Given the description of an element on the screen output the (x, y) to click on. 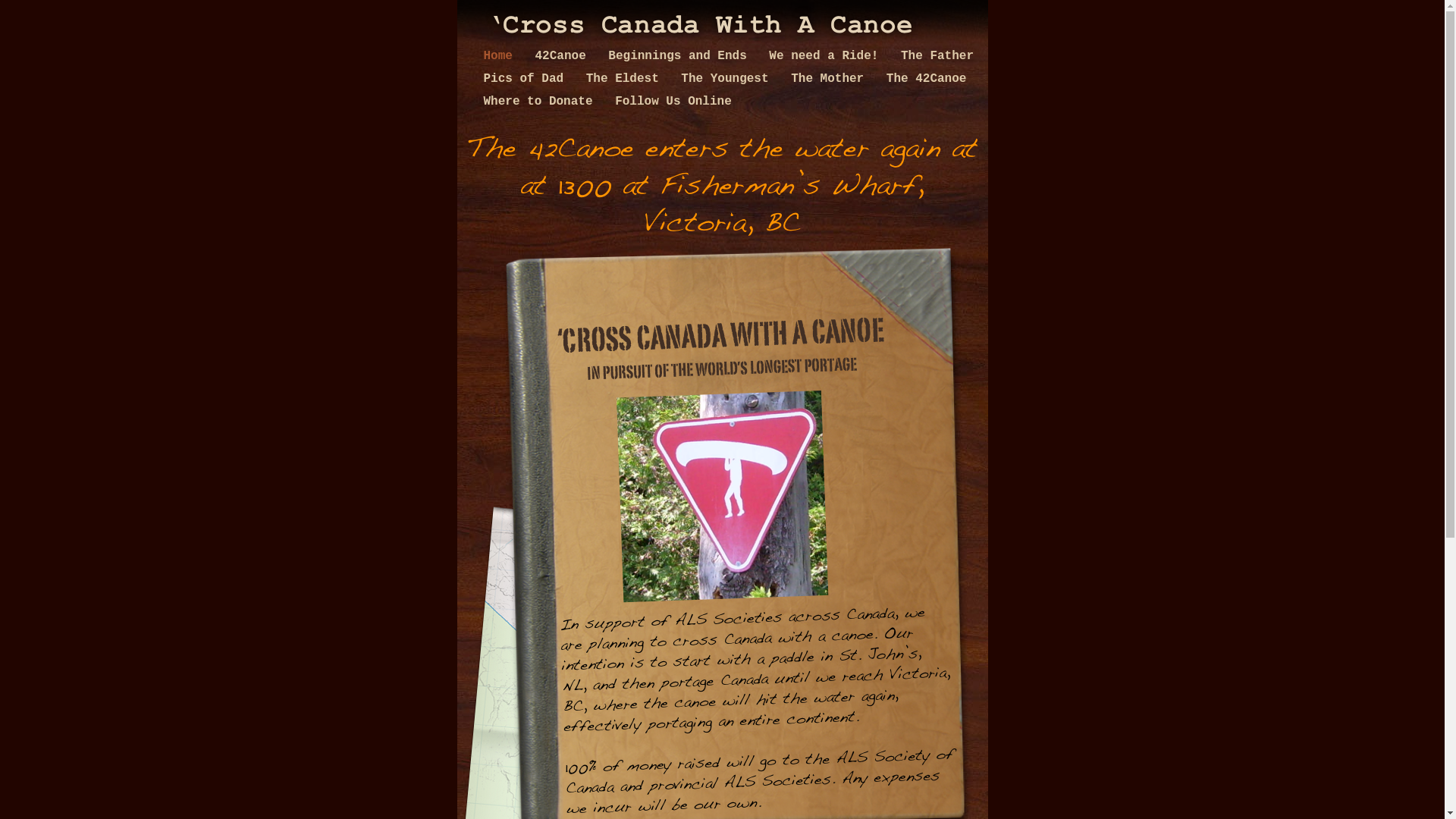
The Eldest Element type: text (626, 78)
Follow Us Online Element type: text (673, 101)
Home Element type: text (501, 55)
42Canoe Element type: text (564, 55)
We need a Ride! Element type: text (826, 55)
The Mother Element type: text (830, 78)
Where to Donate Element type: text (541, 101)
The Youngest Element type: text (727, 78)
Pics of Dad Element type: text (527, 78)
The 42Canoe Element type: text (926, 78)
The Father Element type: text (936, 55)
Beginnings and Ends Element type: text (680, 55)
